Given the description of an element on the screen output the (x, y) to click on. 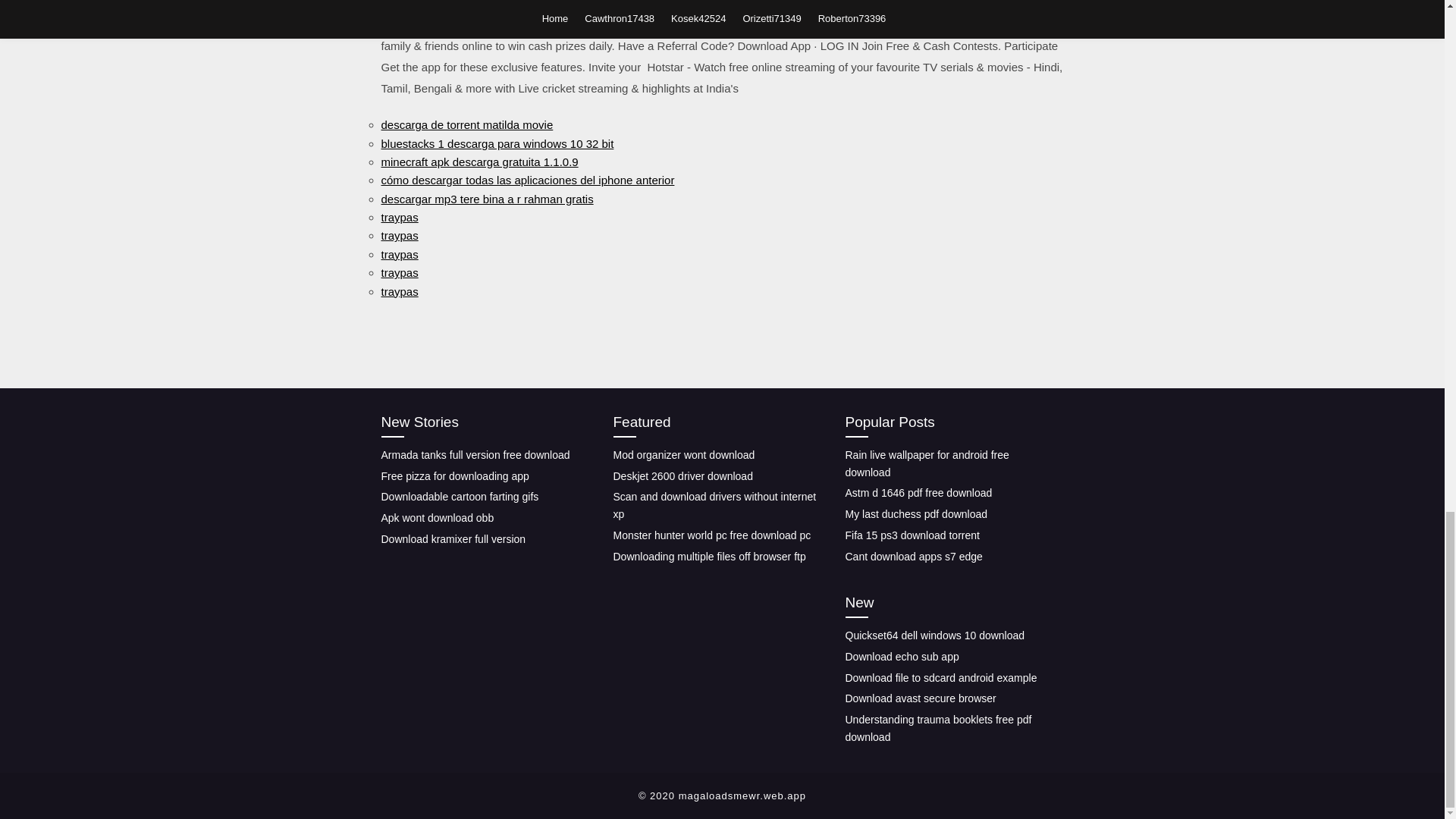
Downloading multiple files off browser ftp (708, 556)
Armada tanks full version free download (474, 454)
traypas (398, 235)
Monster hunter world pc free download pc (711, 535)
Download kramixer full version (452, 539)
Scan and download drivers without internet xp (713, 505)
minecraft apk descarga gratuita 1.1.0.9 (479, 161)
Quickset64 dell windows 10 download (934, 635)
Cant download apps s7 edge (912, 556)
Downloadable cartoon farting gifs (459, 496)
Apk wont download obb (436, 517)
Download avast secure browser (919, 698)
traypas (398, 291)
Mod organizer wont download (683, 454)
traypas (398, 272)
